Given the description of an element on the screen output the (x, y) to click on. 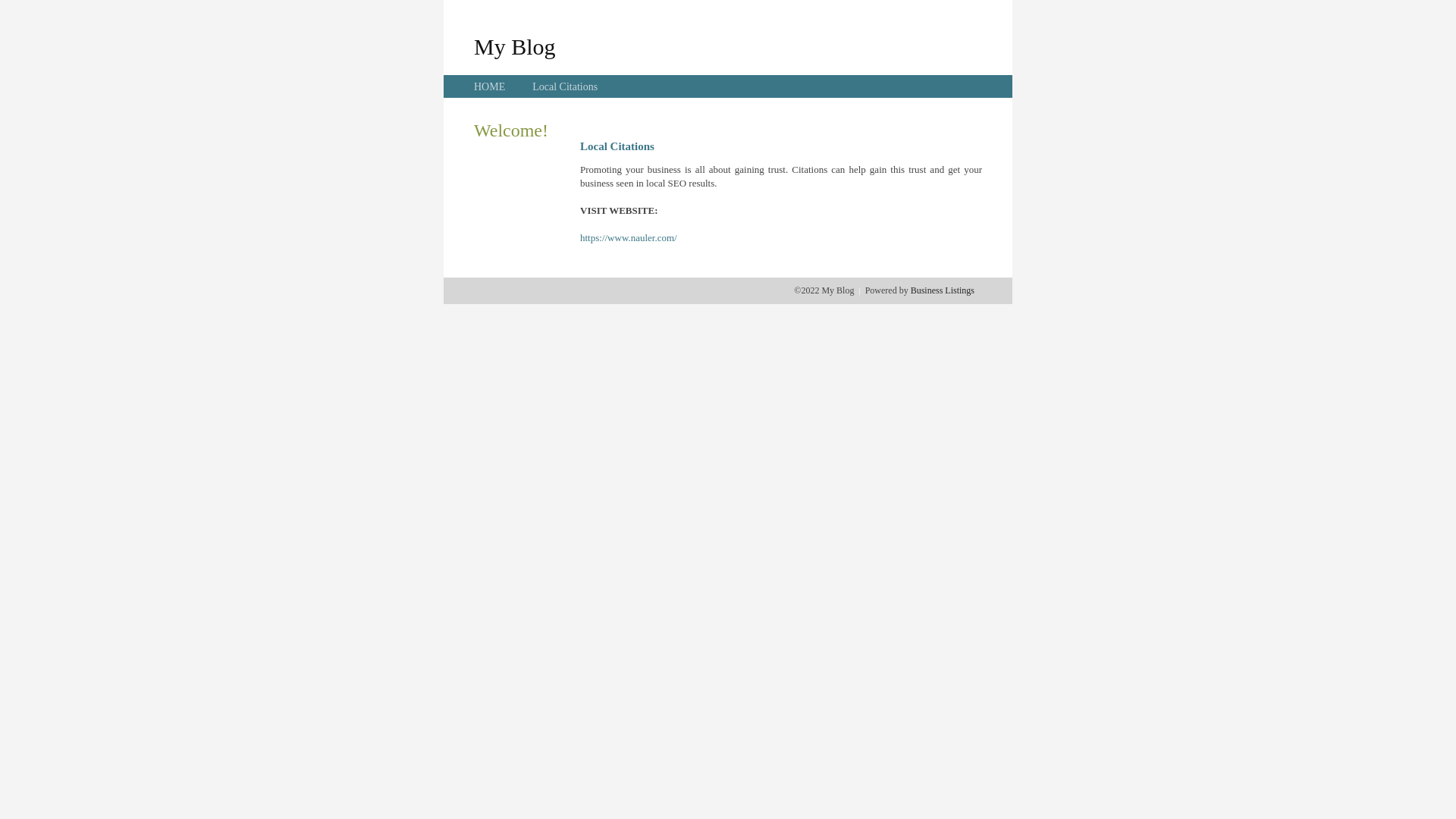
Local Citations Element type: text (564, 86)
HOME Element type: text (489, 86)
Business Listings Element type: text (942, 290)
https://www.nauler.com/ Element type: text (628, 237)
My Blog Element type: text (514, 46)
